Given the description of an element on the screen output the (x, y) to click on. 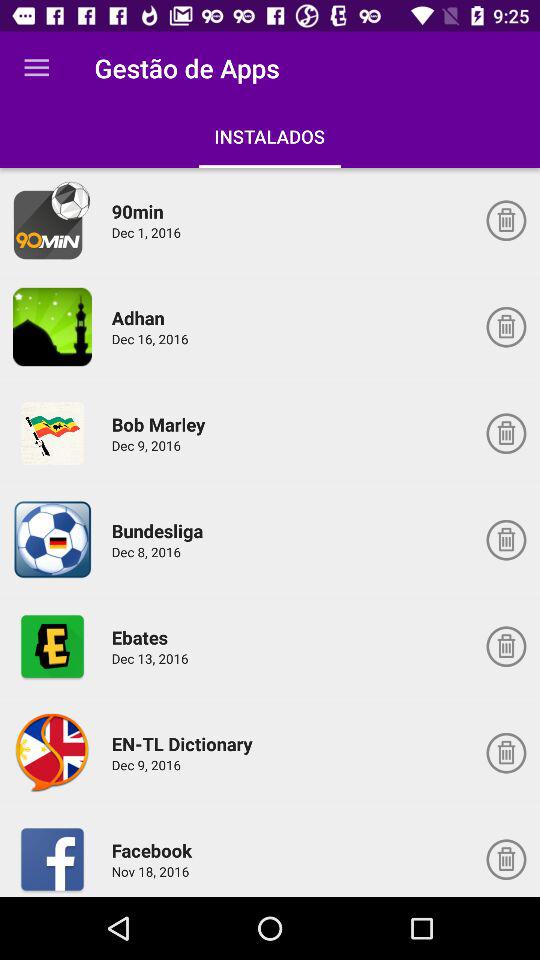
delete this app (505, 753)
